Given the description of an element on the screen output the (x, y) to click on. 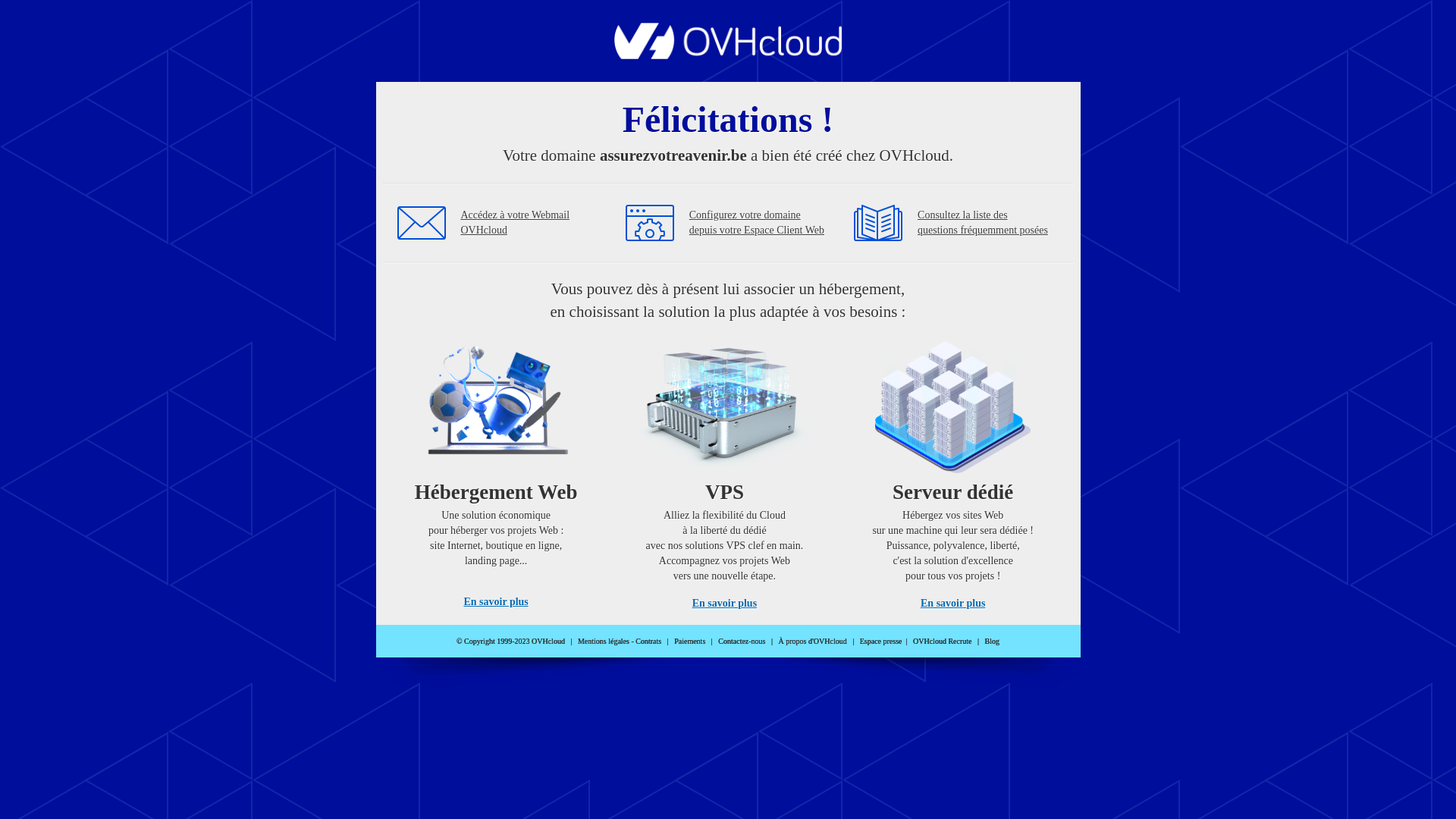
Paiements Element type: text (689, 641)
En savoir plus Element type: text (952, 602)
OVHcloud Element type: hover (727, 54)
OVHcloud Recrute Element type: text (942, 641)
En savoir plus Element type: text (495, 601)
Configurez votre domaine
depuis votre Espace Client Web Element type: text (756, 222)
VPS Element type: hover (724, 469)
En savoir plus Element type: text (724, 602)
Contactez-nous Element type: text (741, 641)
Blog Element type: text (992, 641)
Espace presse Element type: text (880, 641)
